Given the description of an element on the screen output the (x, y) to click on. 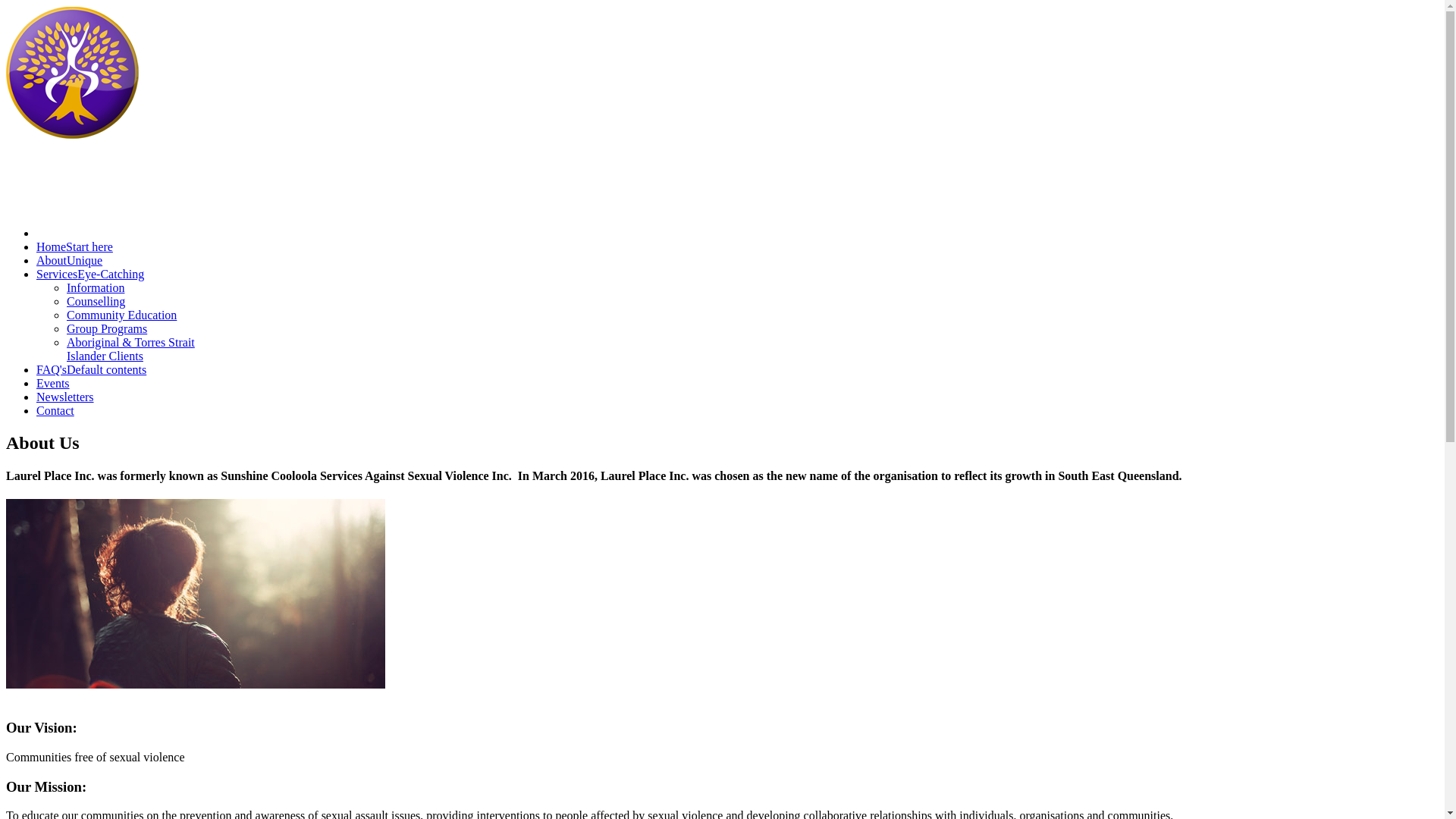
Information Element type: text (95, 287)
Newsletters Element type: text (65, 396)
Community Education Element type: text (121, 314)
Aboriginal & Torres Strait Islander Clients Element type: text (130, 348)
Contact Element type: text (55, 410)
AboutUnique Element type: text (69, 260)
ServicesEye-Catching Element type: text (90, 273)
Events Element type: text (52, 382)
HomeStart here Element type: text (74, 246)
Laurel House, Maroochydore & Laurel Place, Gympie and Murgon Element type: hover (72, 134)
FAQ'sDefault contents Element type: text (91, 369)
Counselling Element type: text (95, 300)
Group Programs Element type: text (106, 328)
